Given the description of an element on the screen output the (x, y) to click on. 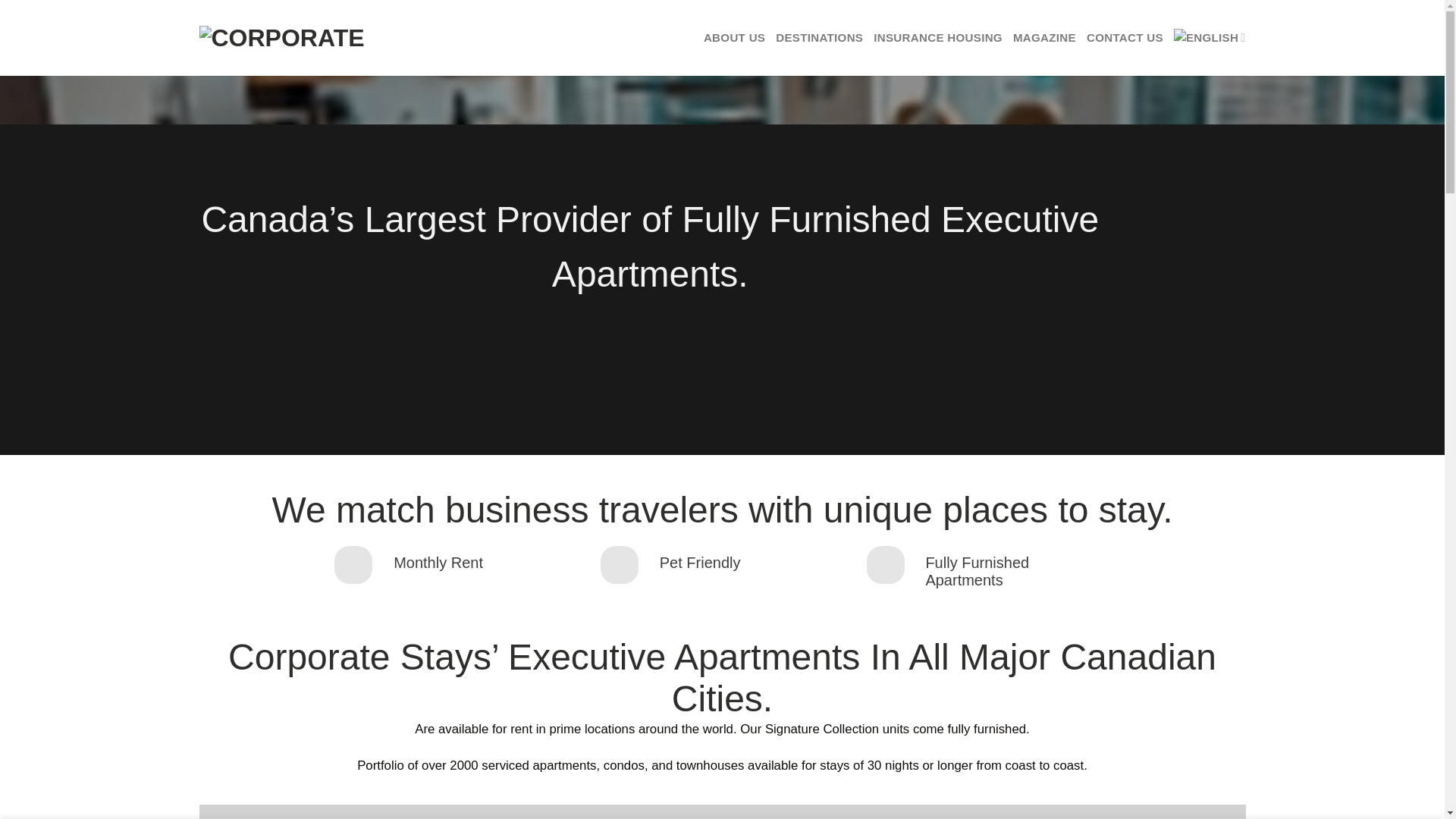
ABOUT US (734, 37)
MAGAZINE (1044, 37)
DESTINATIONS (819, 37)
CONTACT US (1124, 37)
Corporate Stays - Beyond Business (293, 37)
INSURANCE HOUSING (938, 37)
